Given the description of an element on the screen output the (x, y) to click on. 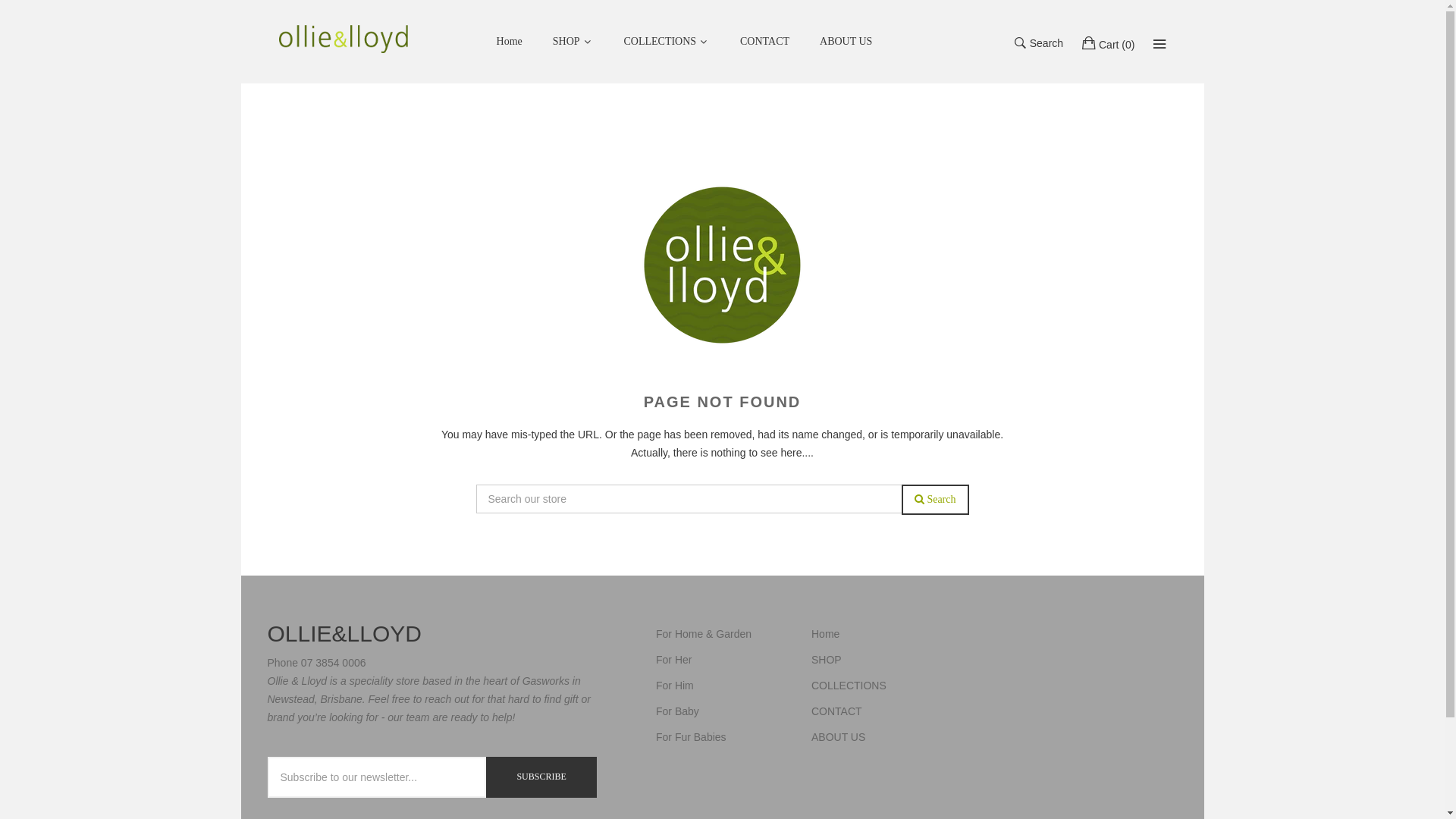
COLLECTIONS Element type: text (848, 685)
CONTACT Element type: text (764, 41)
SHOP Element type: text (826, 659)
CONTACT Element type: text (836, 711)
For Him Element type: text (674, 685)
For Her Element type: text (673, 659)
ABOUT US Element type: text (845, 41)
Search Element type: text (935, 499)
Search Element type: hover (1159, 43)
SHOP Element type: text (571, 41)
For Baby Element type: text (677, 711)
Home Element type: text (509, 41)
Home Element type: text (825, 633)
Cart ( 0 ) Element type: text (1108, 41)
For Fur Babies Element type: text (690, 736)
SUBSCRIBE Element type: text (541, 776)
ABOUT US Element type: text (838, 736)
For Home & Garden Element type: text (703, 633)
COLLECTIONS Element type: text (664, 41)
Search Element type: text (1038, 41)
